Given the description of an element on the screen output the (x, y) to click on. 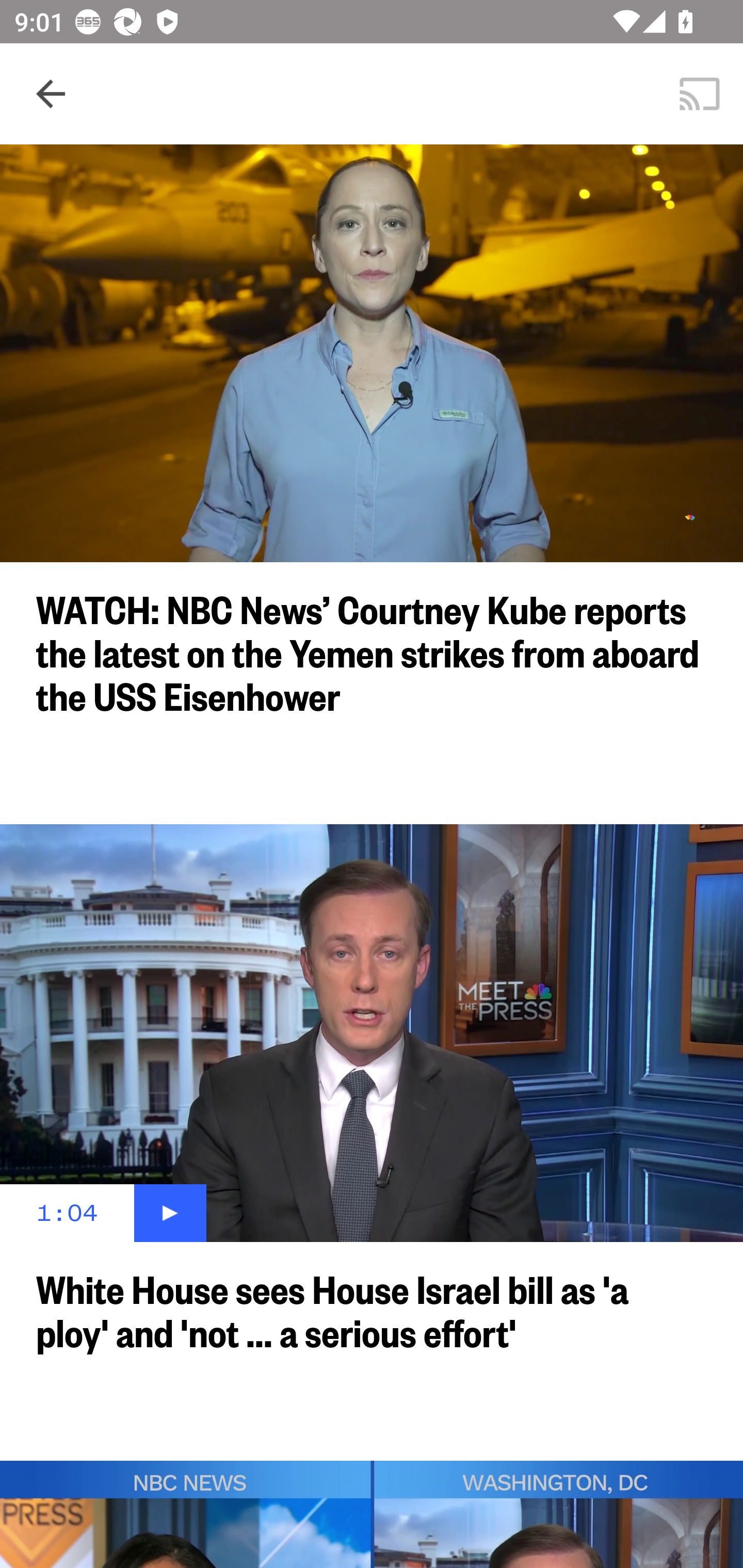
Navigate up (50, 93)
Cast. Disconnected (699, 93)
